Given the description of an element on the screen output the (x, y) to click on. 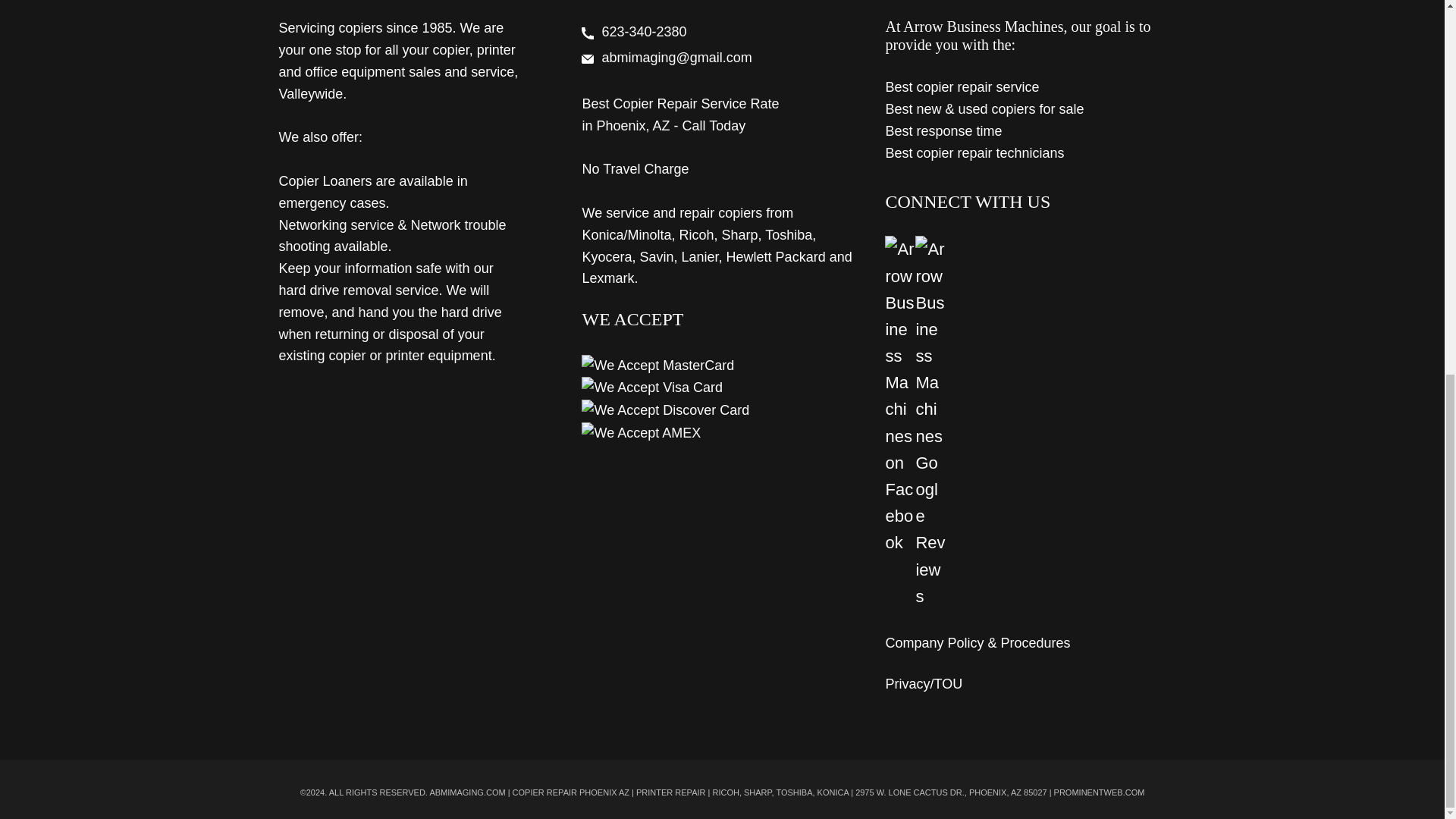
ABMIMAGING.COM (467, 791)
623-340-2380 (644, 31)
PROMINENTWEB.COM (1099, 791)
